Given the description of an element on the screen output the (x, y) to click on. 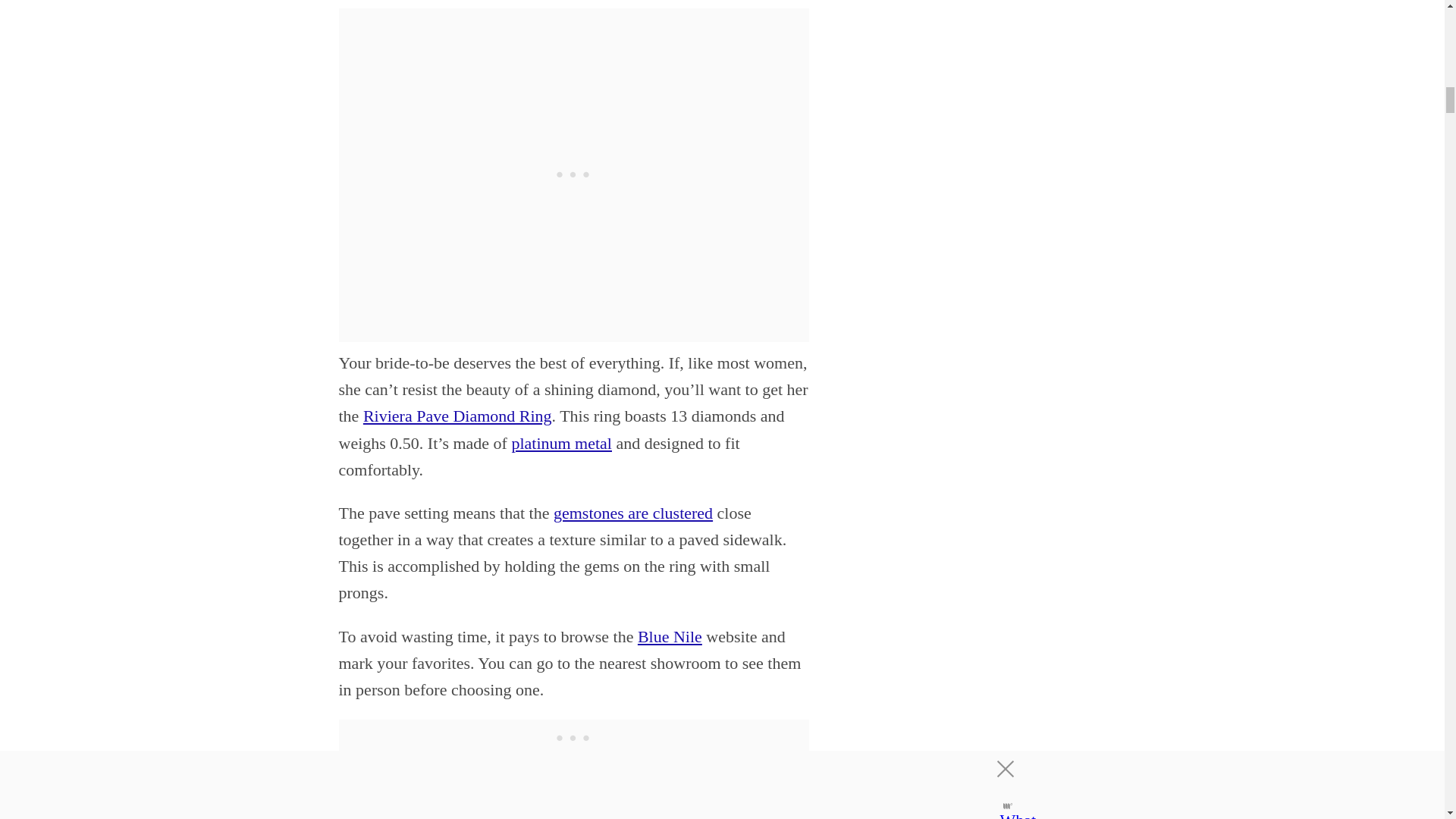
platinum metal (561, 443)
gemstones are clustered (633, 512)
Riviera Pave Diamond Ring (456, 415)
3rd party ad content (572, 738)
Blue Nile (669, 636)
